Given the description of an element on the screen output the (x, y) to click on. 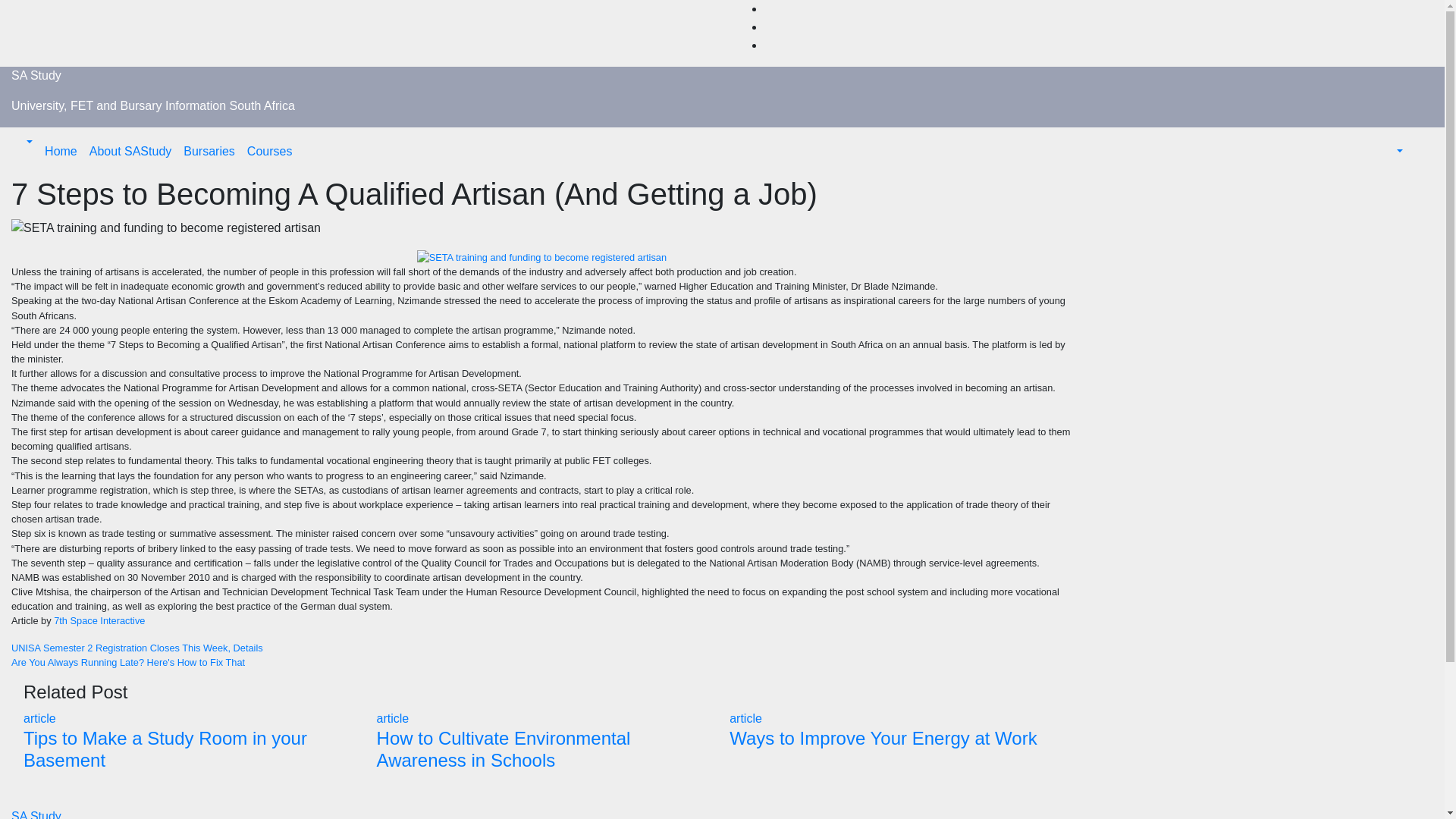
SA Study (36, 74)
How to Cultivate Environmental Awareness in Schools (503, 749)
article (393, 717)
7th Space Interactive (98, 620)
About SAStudy (129, 151)
Ways to Improve Your Energy at Work (882, 738)
article (745, 717)
Home (60, 151)
Courses (269, 151)
article (39, 717)
UNISA Semester 2 Registration Closes This Week, Details (541, 648)
Tips to Make a Study Room in your Basement (165, 749)
Are You Always Running Late? Here's How to Fix That (541, 662)
Bursaries (209, 151)
